Given the description of an element on the screen output the (x, y) to click on. 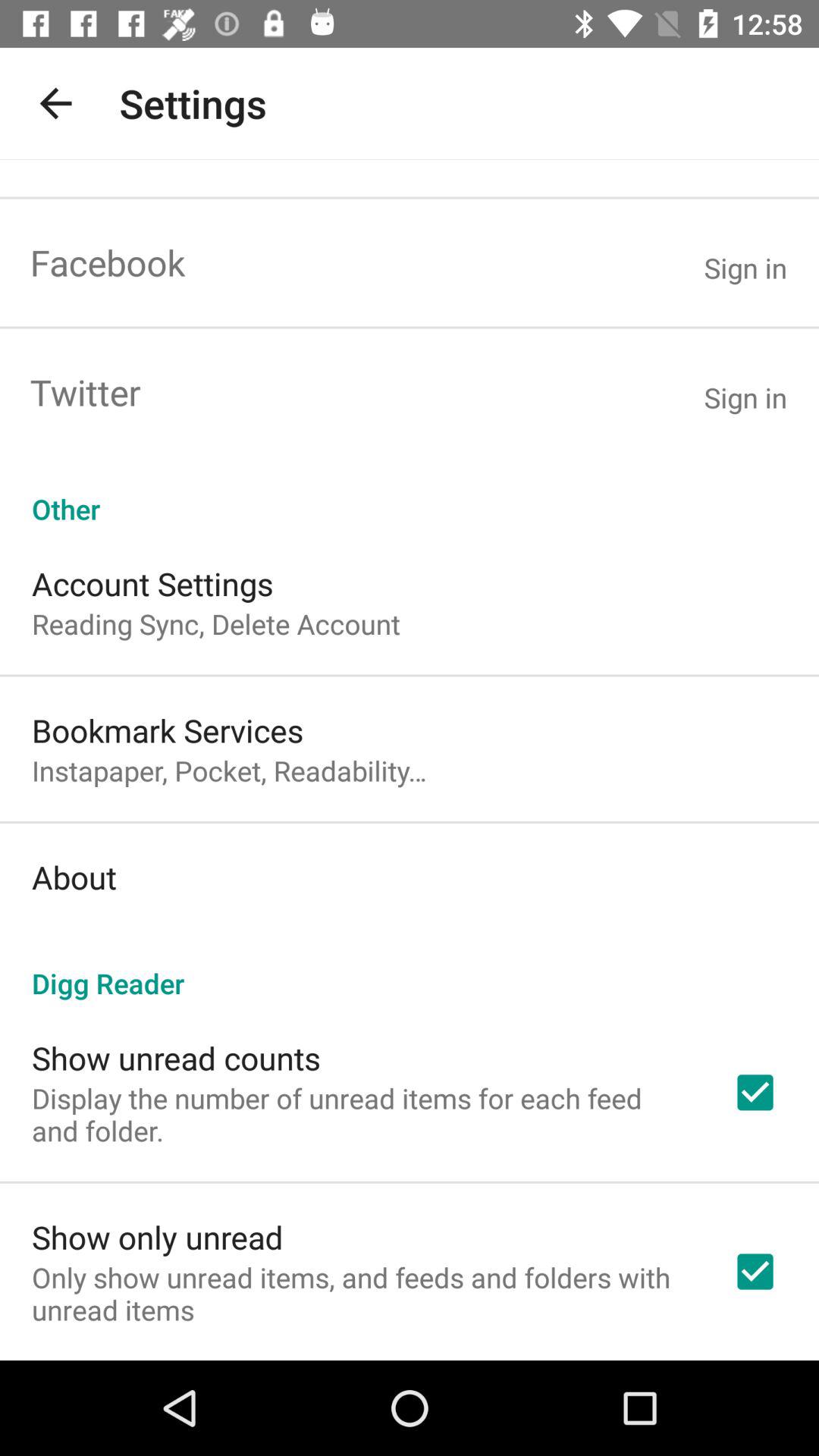
choose the item above the bookmark services app (215, 623)
